Given the description of an element on the screen output the (x, y) to click on. 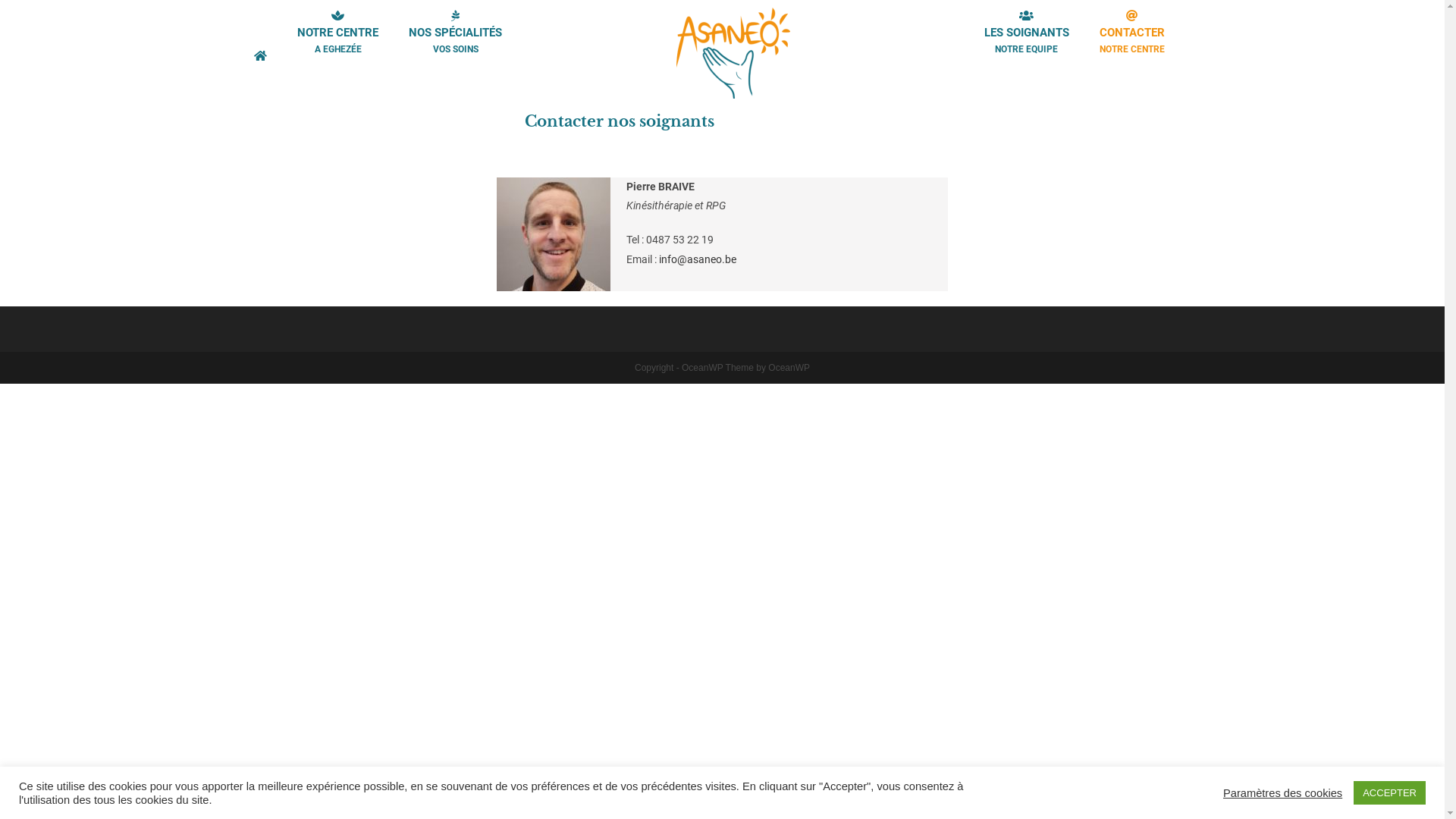
LES SOIGNANTS
NOTRE EQUIPE Element type: text (1026, 39)
cropped-asaneo-logo-bold-e1606827871919.png Element type: hover (733, 52)
info@asaneo.be Element type: text (697, 259)
CONTACTER
NOTRE CENTRE Element type: text (1131, 39)
ACCEPTER Element type: text (1389, 792)
